Given the description of an element on the screen output the (x, y) to click on. 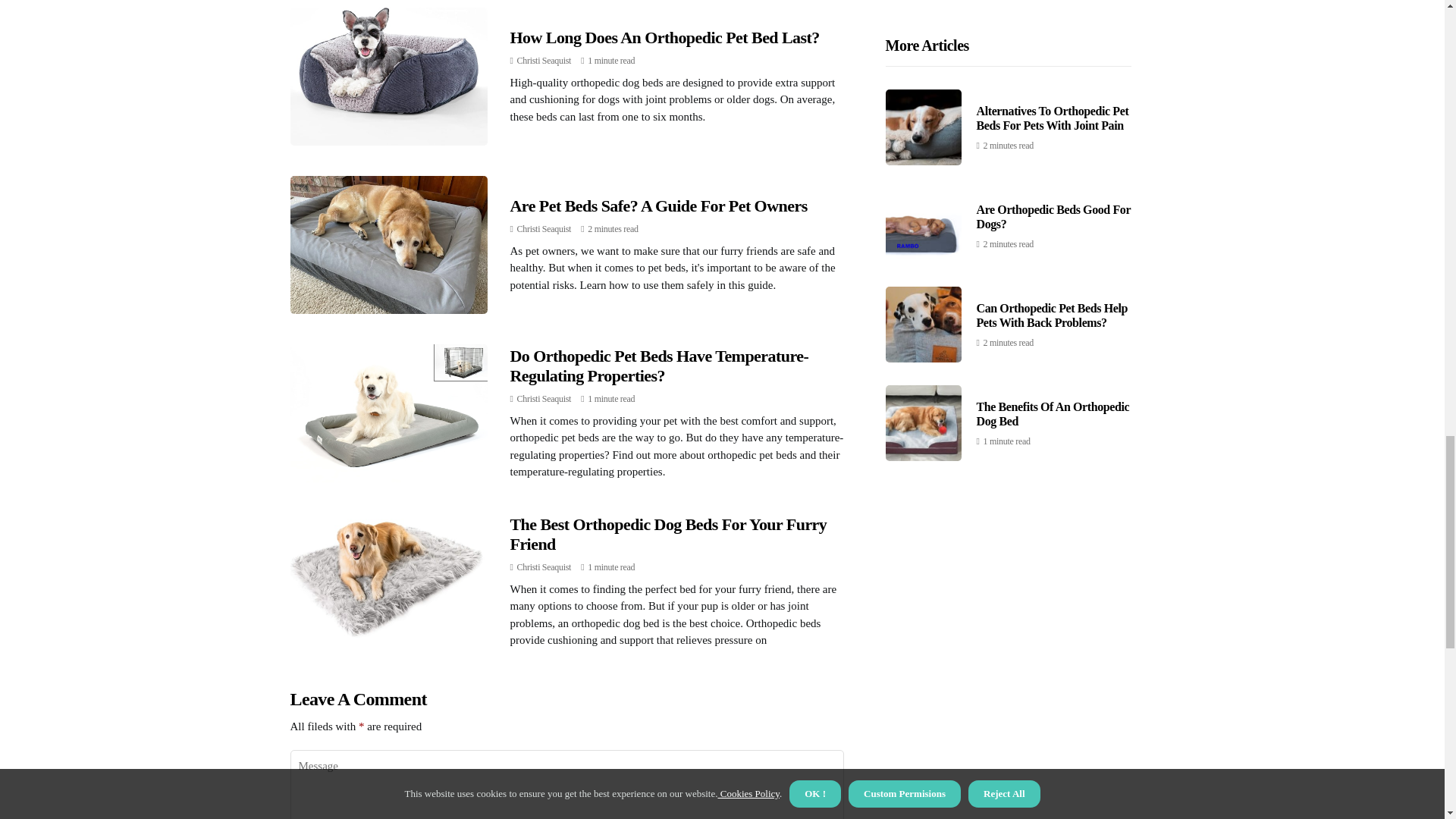
The Best Orthopedic Dog Beds For Your Furry Friend (668, 533)
Posts by Christi Seaquist (544, 398)
Are Pet Beds Safe? A Guide For Pet Owners (657, 205)
Posts by Christi Seaquist (544, 60)
Posts by Christi Seaquist (544, 228)
Christi Seaquist (544, 228)
Posts by Christi Seaquist (544, 566)
Christi Seaquist (544, 60)
Christi Seaquist (544, 566)
How Long Does An Orthopedic Pet Bed Last? (663, 36)
Christi Seaquist (544, 398)
